Given the description of an element on the screen output the (x, y) to click on. 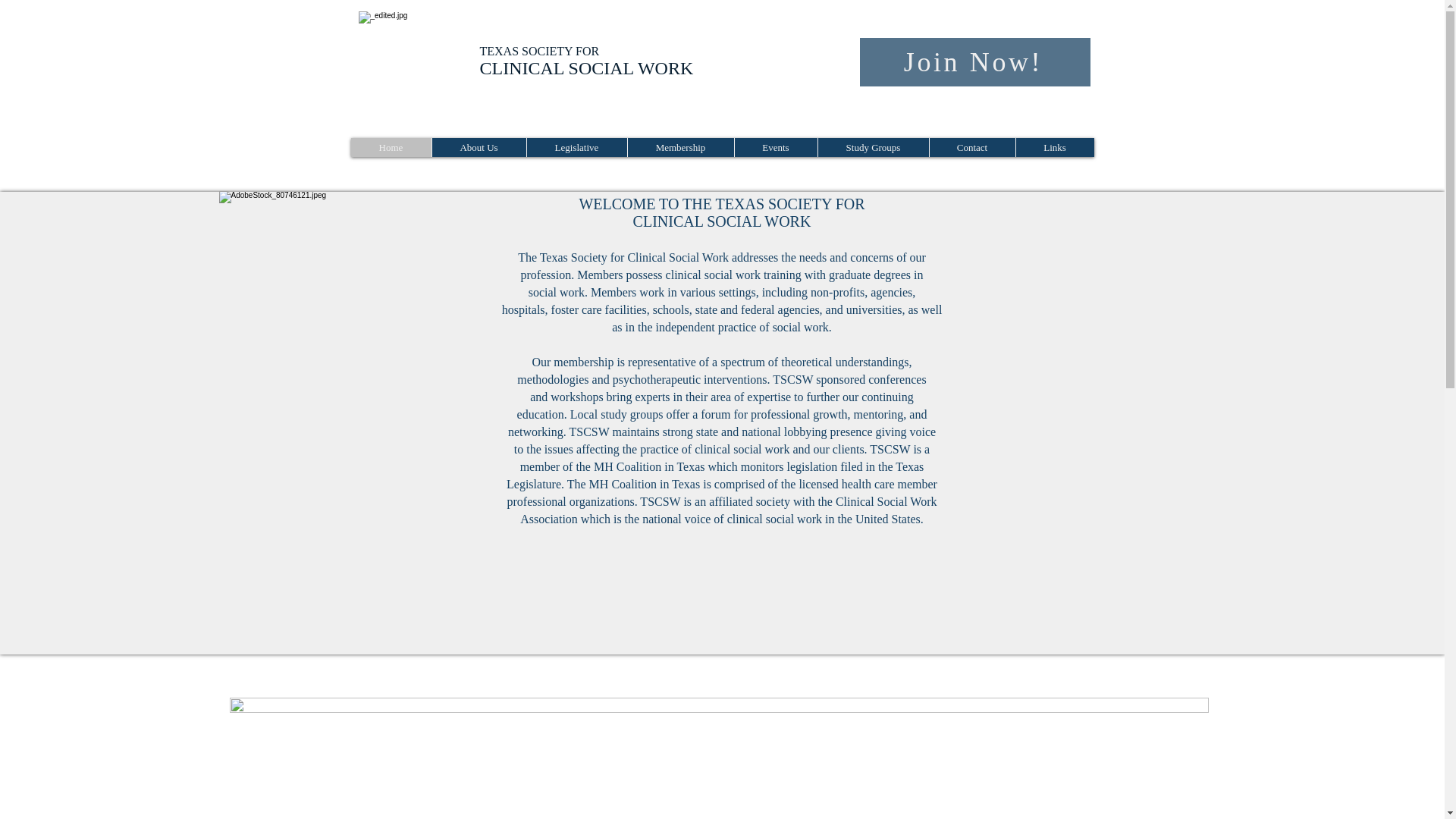
Links (1053, 147)
Home (390, 147)
Legislative (576, 147)
About Us (477, 147)
Join Now! (975, 61)
Membership (679, 147)
Events (774, 147)
Study Groups (872, 147)
Contact (971, 147)
